Given the description of an element on the screen output the (x, y) to click on. 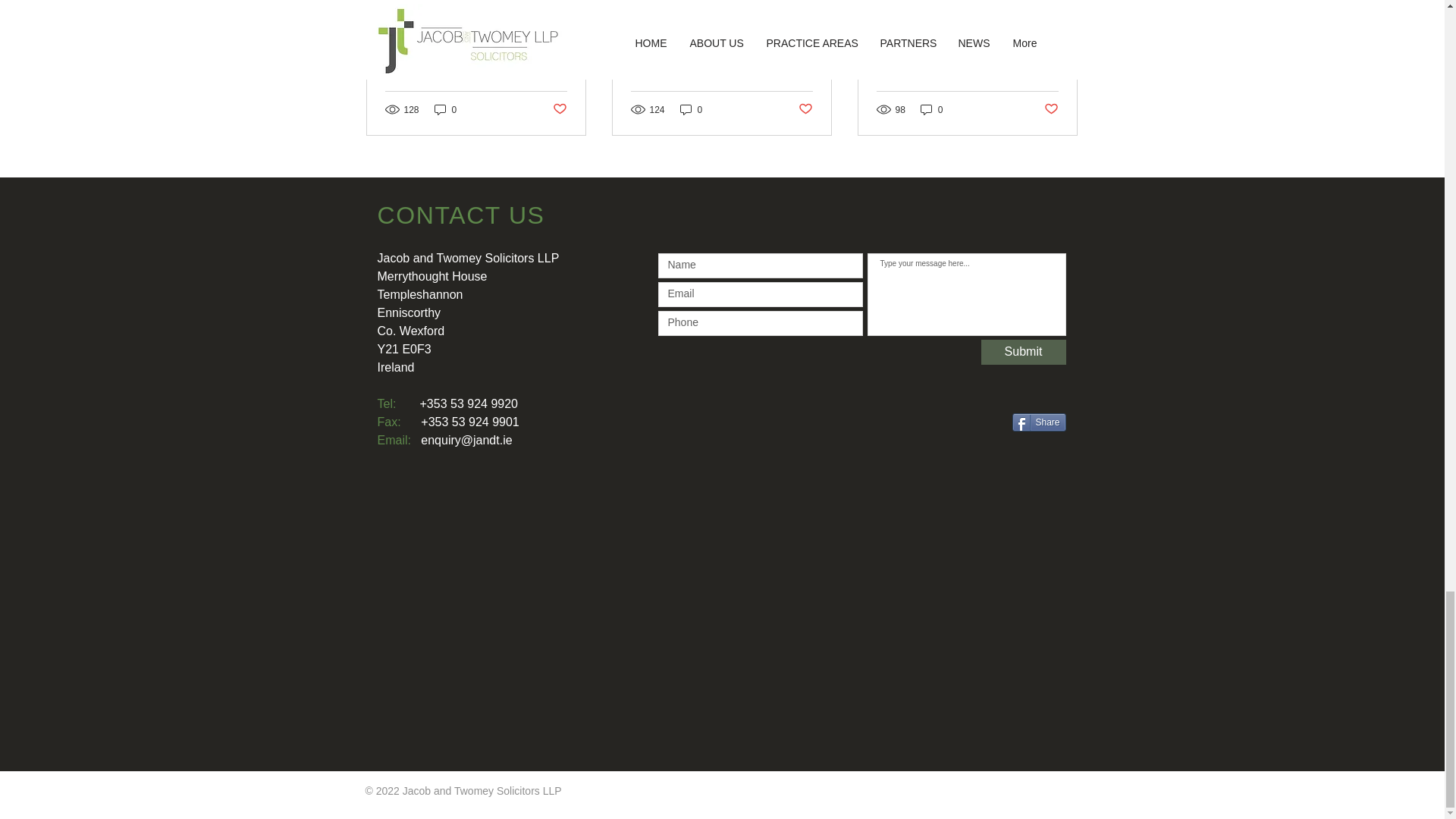
Share (1038, 422)
